Given the description of an element on the screen output the (x, y) to click on. 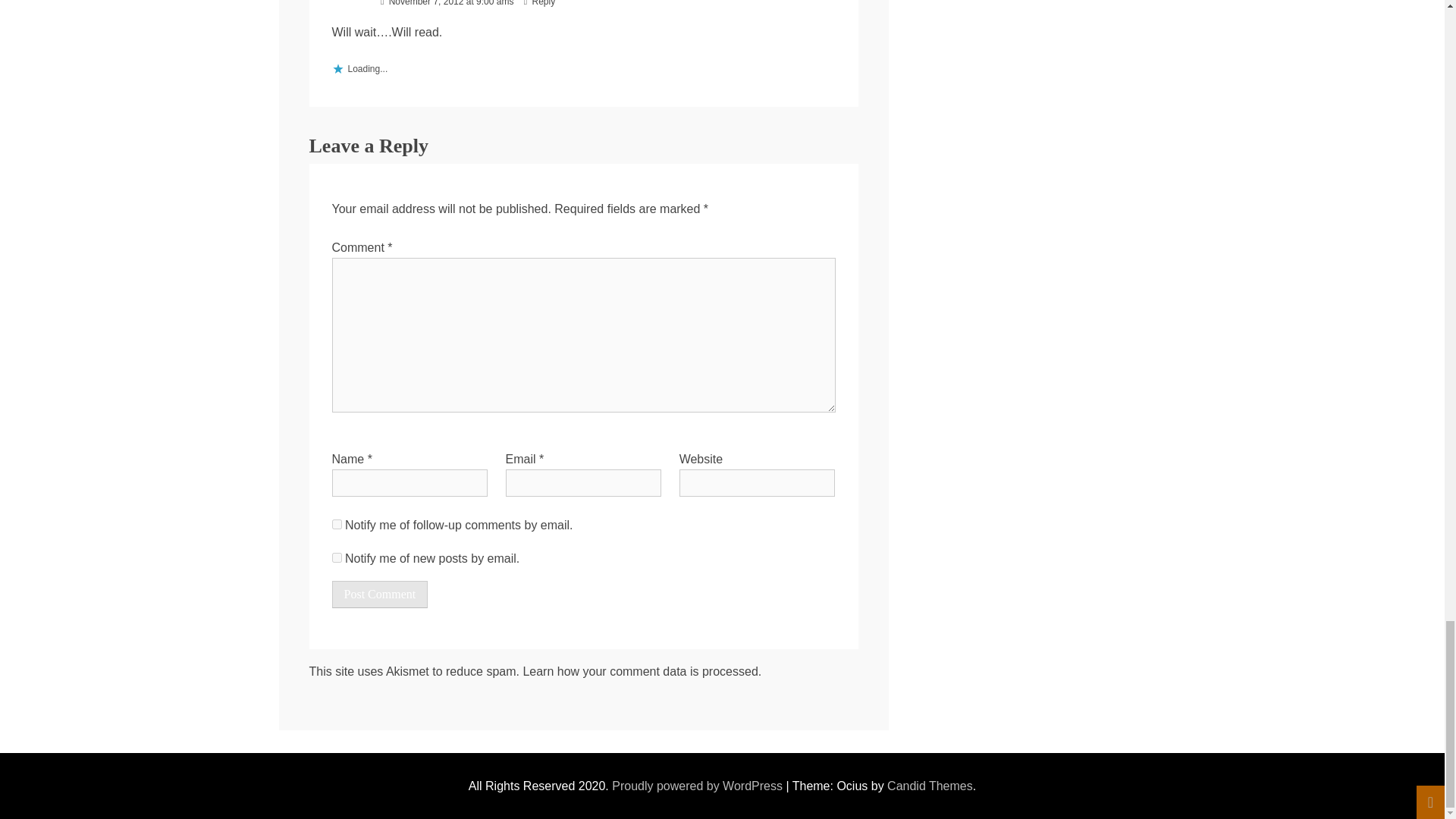
subscribe (336, 557)
subscribe (336, 524)
Post Comment (379, 594)
